Given the description of an element on the screen output the (x, y) to click on. 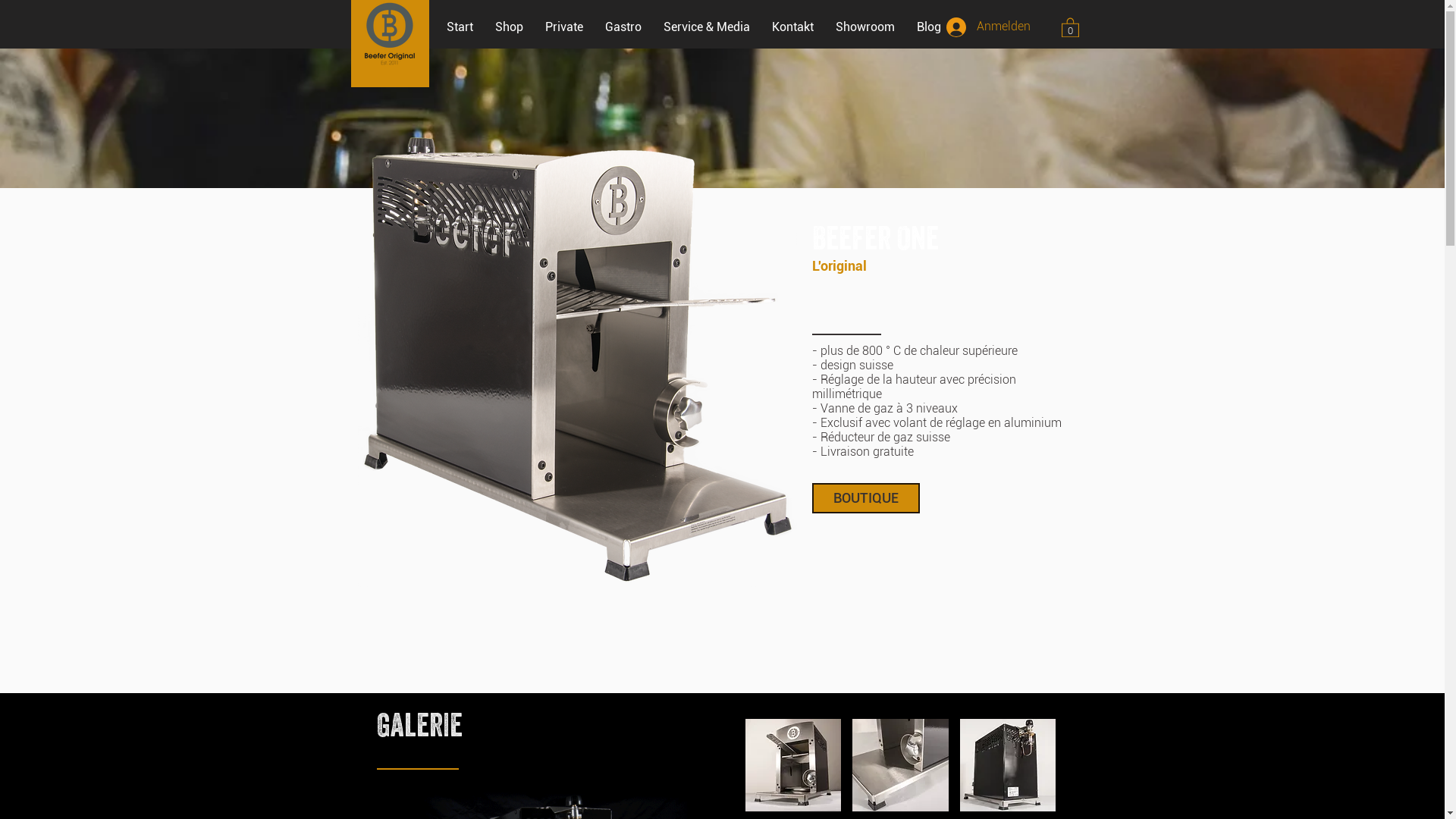
0 Element type: text (1070, 26)
Beefer-cut-Fix.png Element type: hover (577, 358)
Shop Element type: text (519, 26)
Anmelden Element type: text (986, 26)
Private Element type: text (574, 26)
Gastro Element type: text (634, 26)
Start Element type: text (469, 26)
Blog Element type: text (939, 26)
Logo2017-600x600.png Element type: hover (389, 33)
BOUTIQUE Element type: text (865, 498)
Showroom Element type: text (875, 26)
Kontakt Element type: text (803, 26)
Service & Media Element type: text (716, 26)
